Given the description of an element on the screen output the (x, y) to click on. 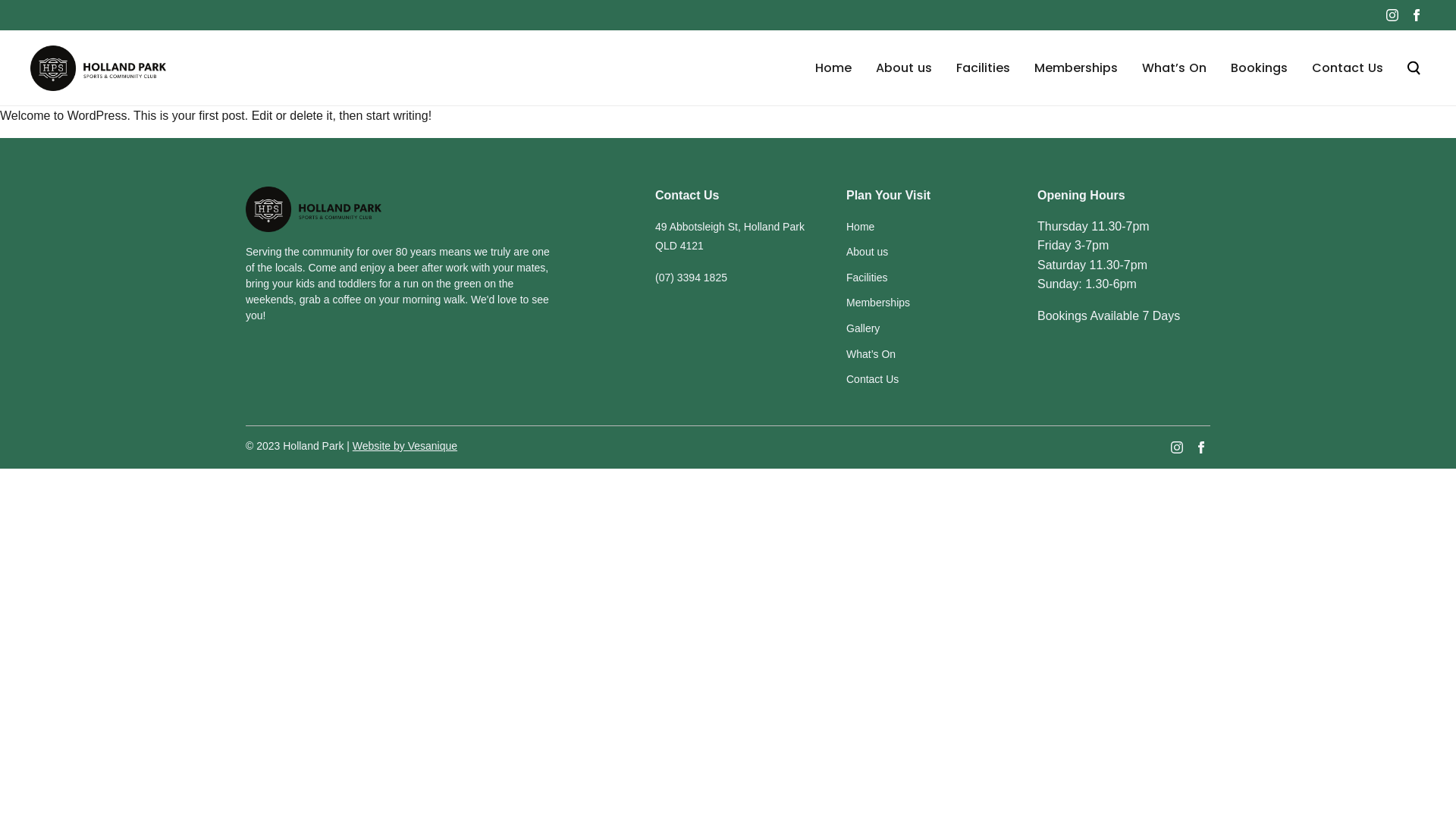
Home Element type: text (860, 226)
Facilities Element type: text (866, 277)
Contact Us Element type: text (872, 379)
About us Element type: text (903, 68)
Bookings Element type: text (1258, 68)
49 Abbotsleigh St, Holland Park QLD 4121 Element type: text (729, 236)
Contact Us Element type: text (1347, 68)
Gallery Element type: text (862, 328)
Memberships Element type: text (878, 302)
Website by Vesanique Element type: text (404, 445)
Facilities Element type: text (983, 68)
Memberships Element type: text (1075, 68)
Home Element type: text (833, 68)
(07) 3394 1825 Element type: text (691, 277)
About us Element type: text (867, 251)
